Given the description of an element on the screen output the (x, y) to click on. 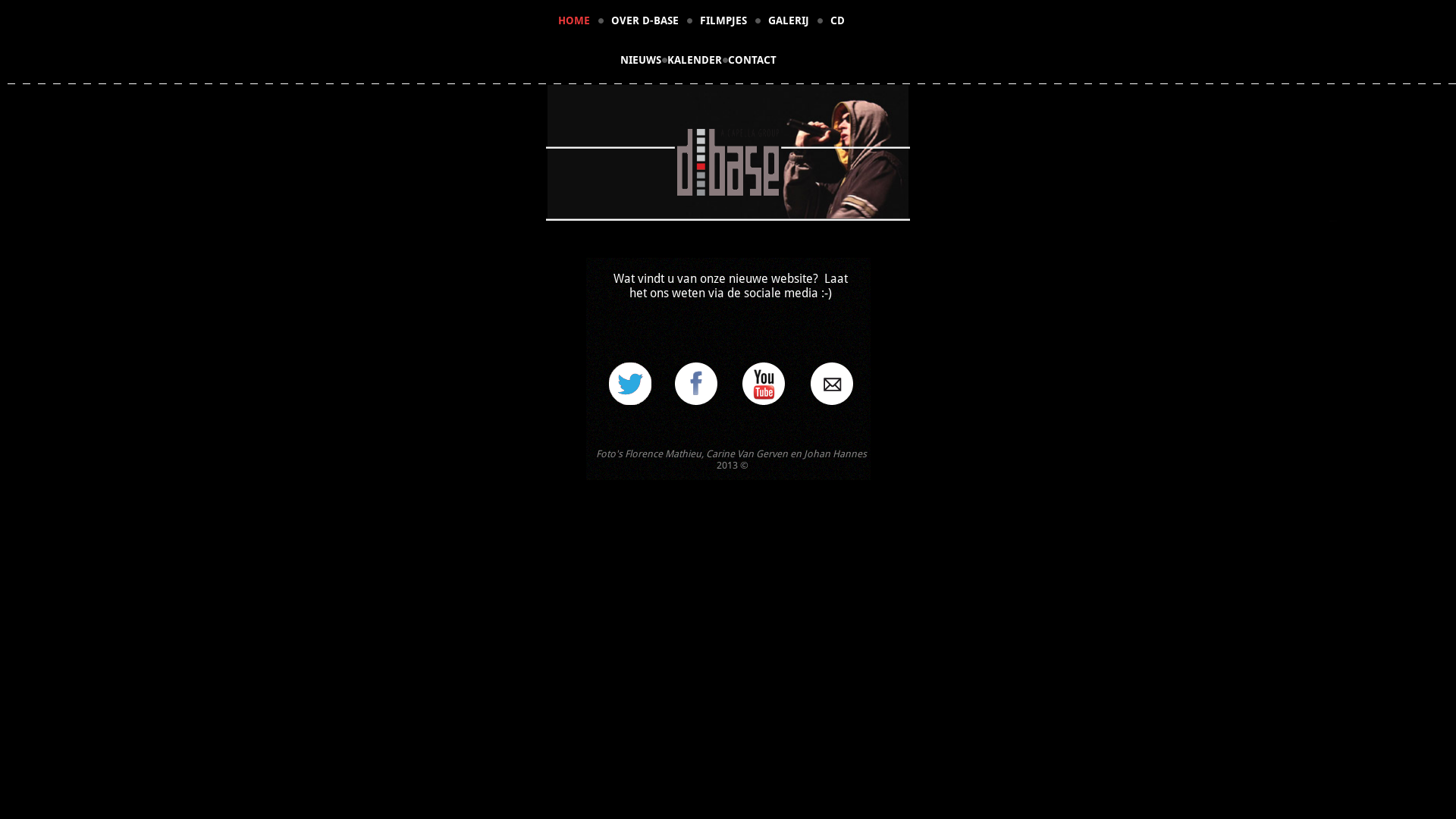
NIEUWS Element type: text (640, 59)
OVER D-BASE Element type: text (644, 20)
GALERIJ Element type: text (788, 20)
FILMPJES Element type: text (722, 20)
CD Element type: text (837, 20)
HOME Element type: text (573, 20)
KALENDER Element type: text (694, 59)
CONTACT Element type: text (752, 59)
